Given the description of an element on the screen output the (x, y) to click on. 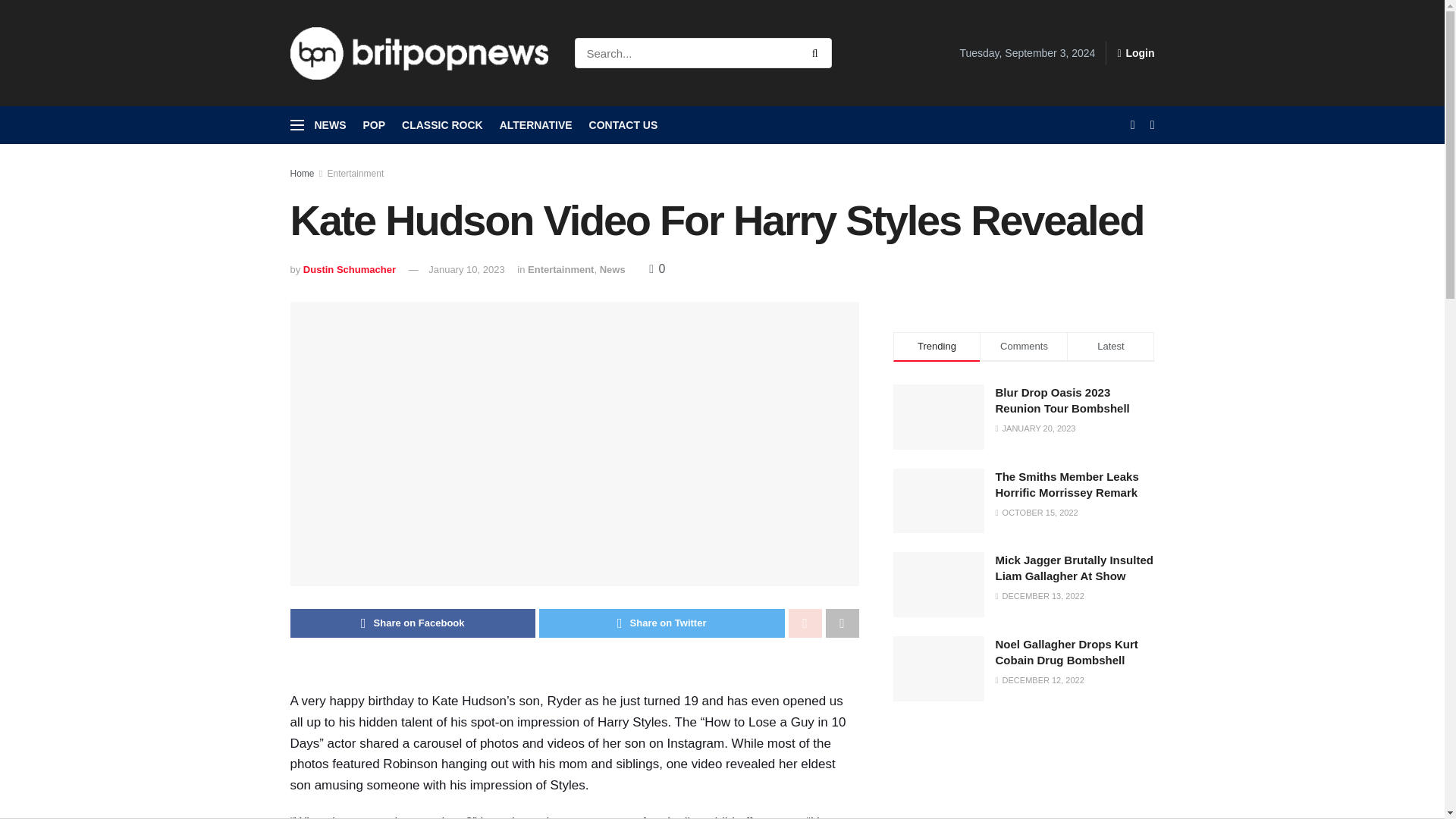
ALTERNATIVE (535, 125)
Share on Twitter (661, 623)
January 10, 2023 (465, 269)
0 (657, 268)
Share on Facebook (412, 623)
Dustin Schumacher (349, 269)
Home (301, 173)
CONTACT US (623, 125)
CLASSIC ROCK (442, 125)
